Given the description of an element on the screen output the (x, y) to click on. 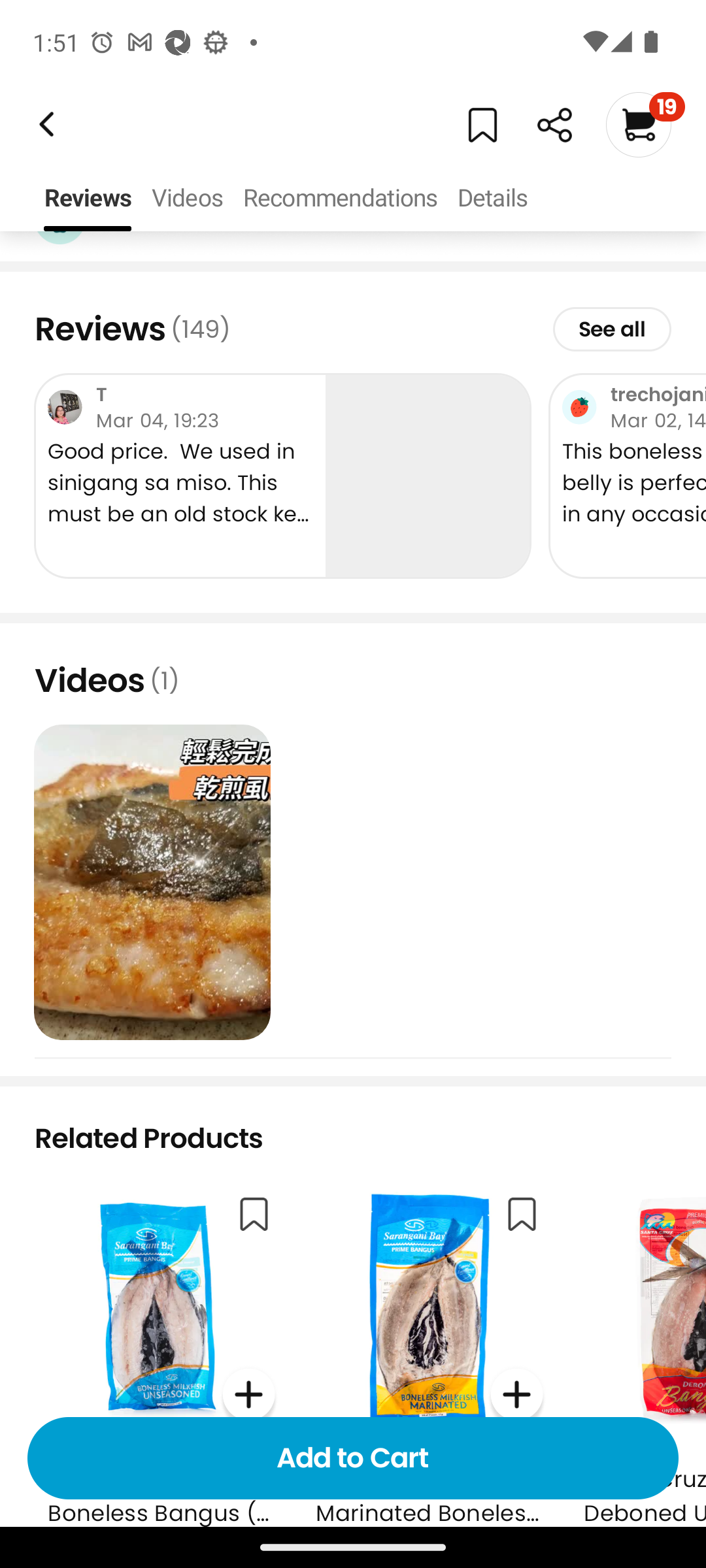
19 (644, 124)
Weee! (45, 124)
Weee! (554, 125)
Reviews (87, 199)
Videos (186, 199)
Recommendations (339, 199)
Details (491, 199)
Reviews (149) See all (353, 328)
Add to Cart (352, 1458)
